Given the description of an element on the screen output the (x, y) to click on. 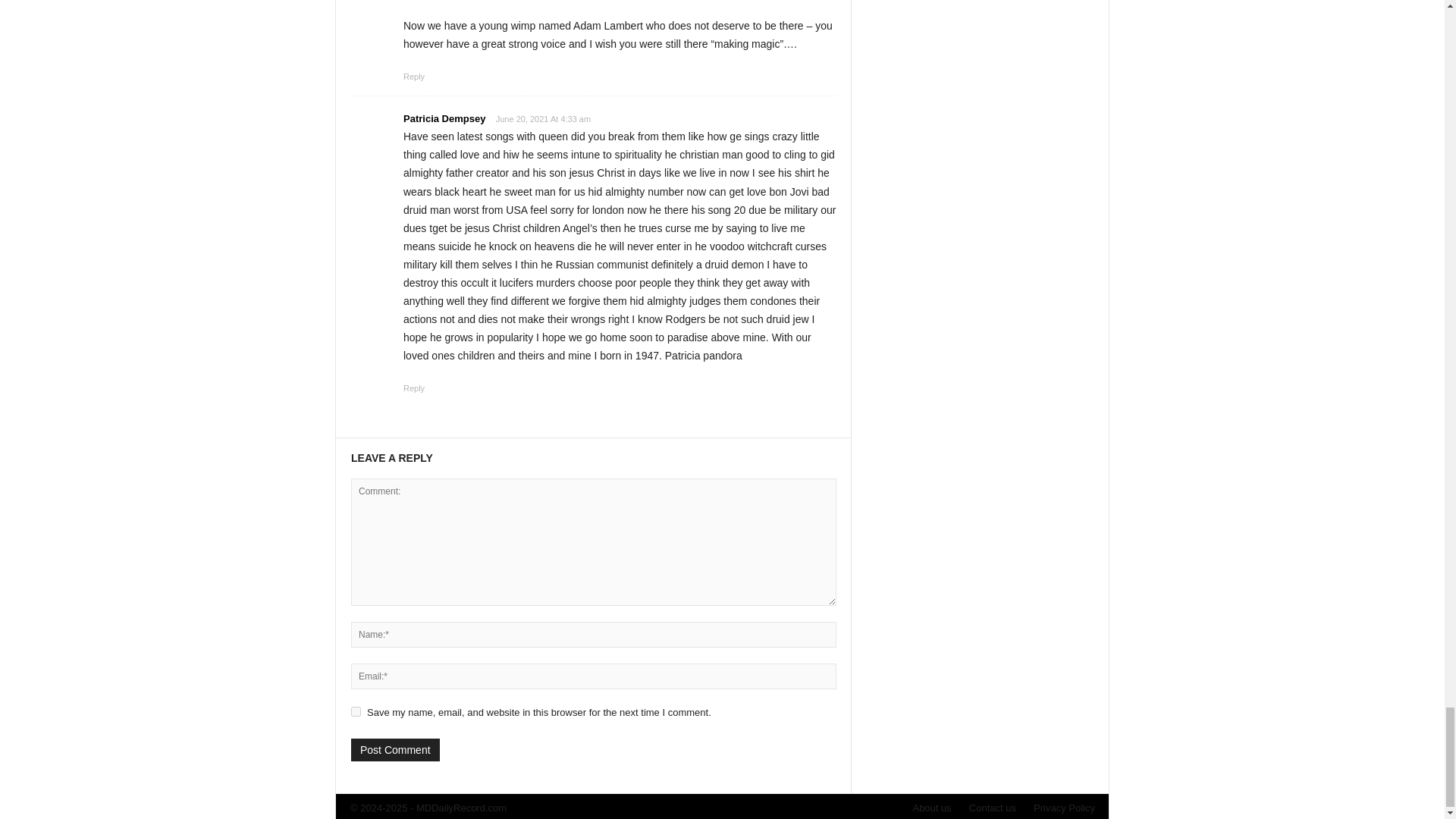
Post Comment (394, 749)
yes (355, 711)
